Given the description of an element on the screen output the (x, y) to click on. 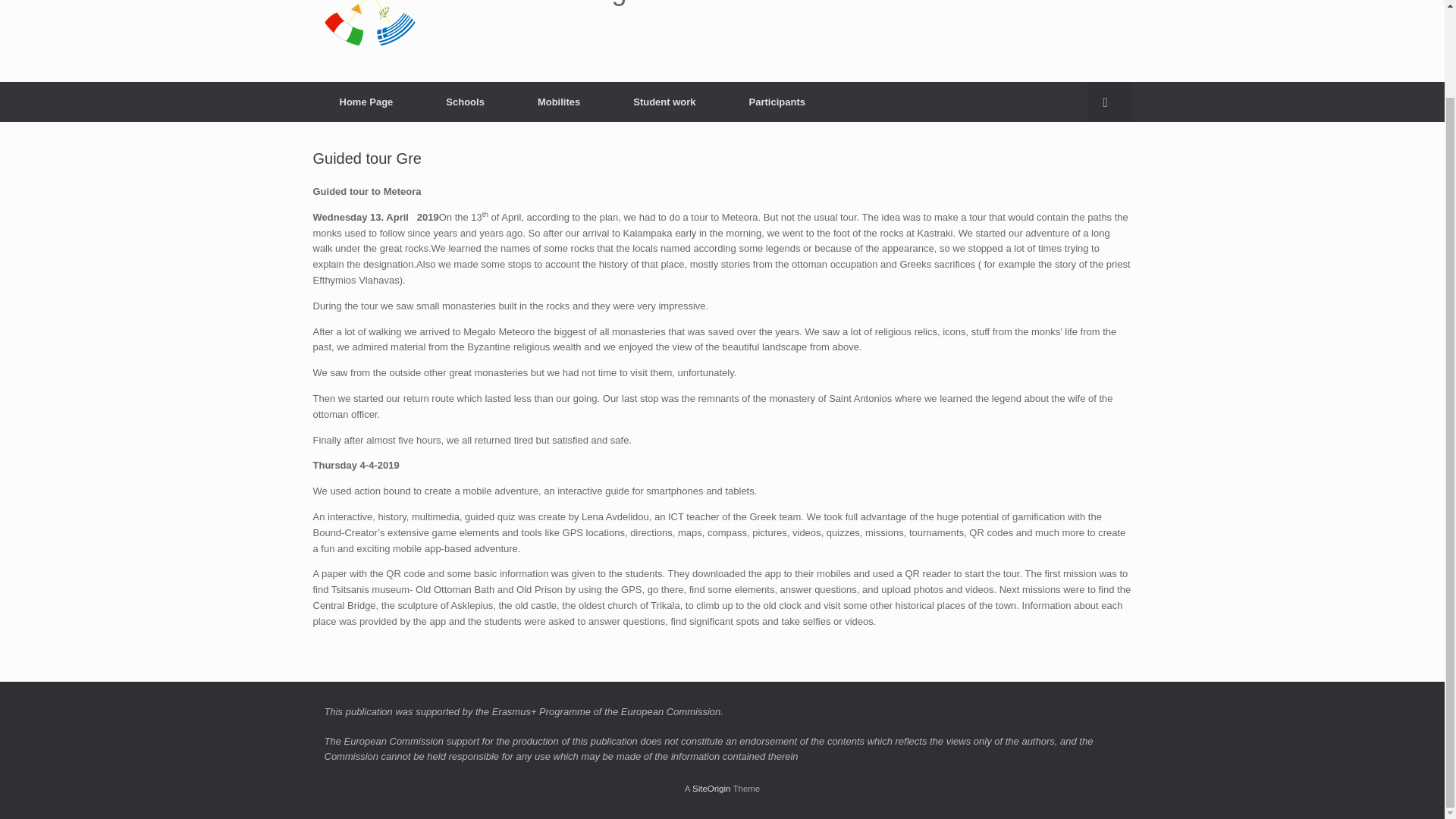
Mobilites (559, 101)
Student work (664, 101)
Cultural heritage in the context of students' careers (685, 23)
Cultural heritage in the context of students' careers (685, 23)
Schools (465, 101)
Home Page (366, 101)
